Given the description of an element on the screen output the (x, y) to click on. 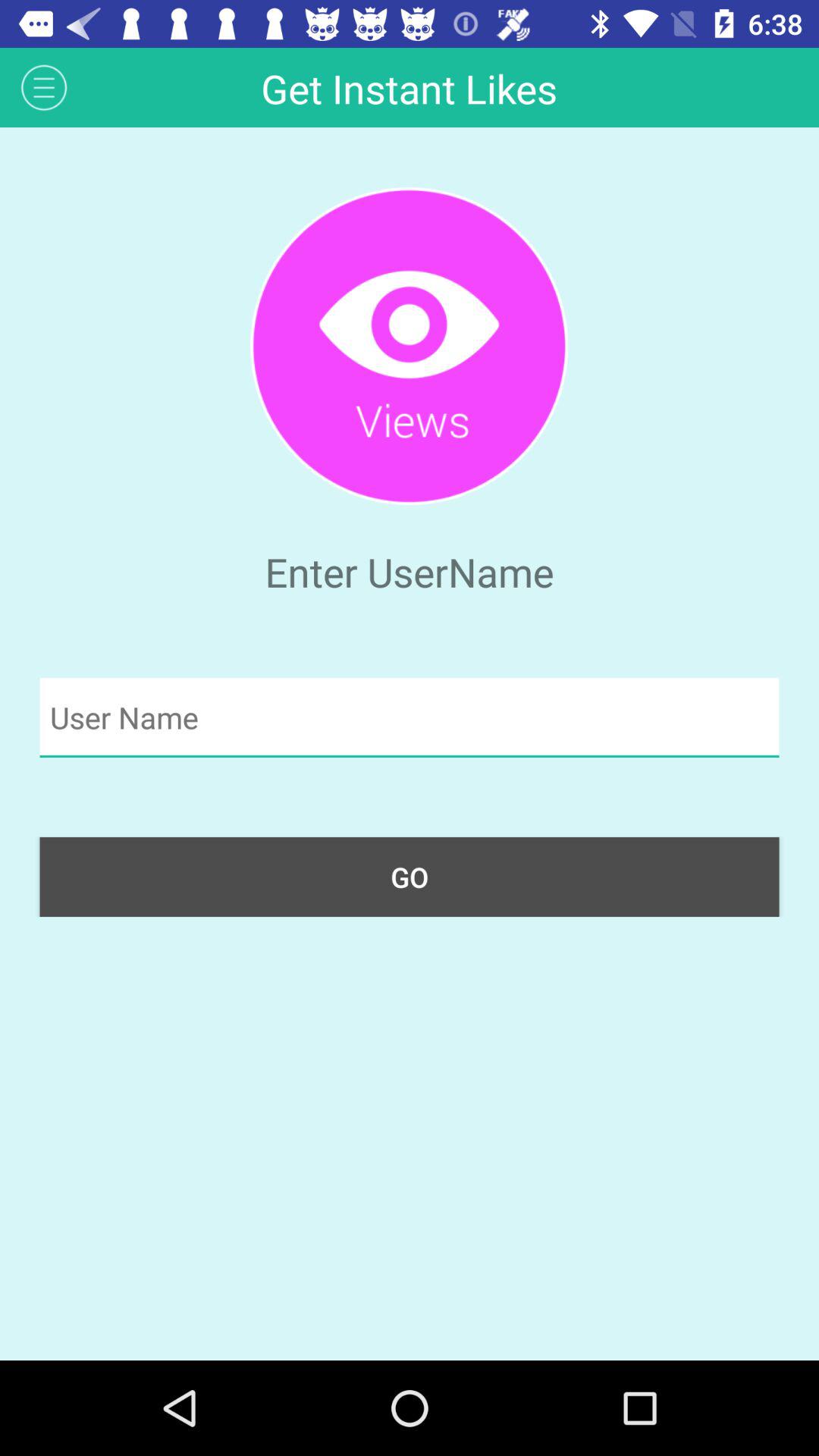
launch app next to the get instant likes app (44, 87)
